Given the description of an element on the screen output the (x, y) to click on. 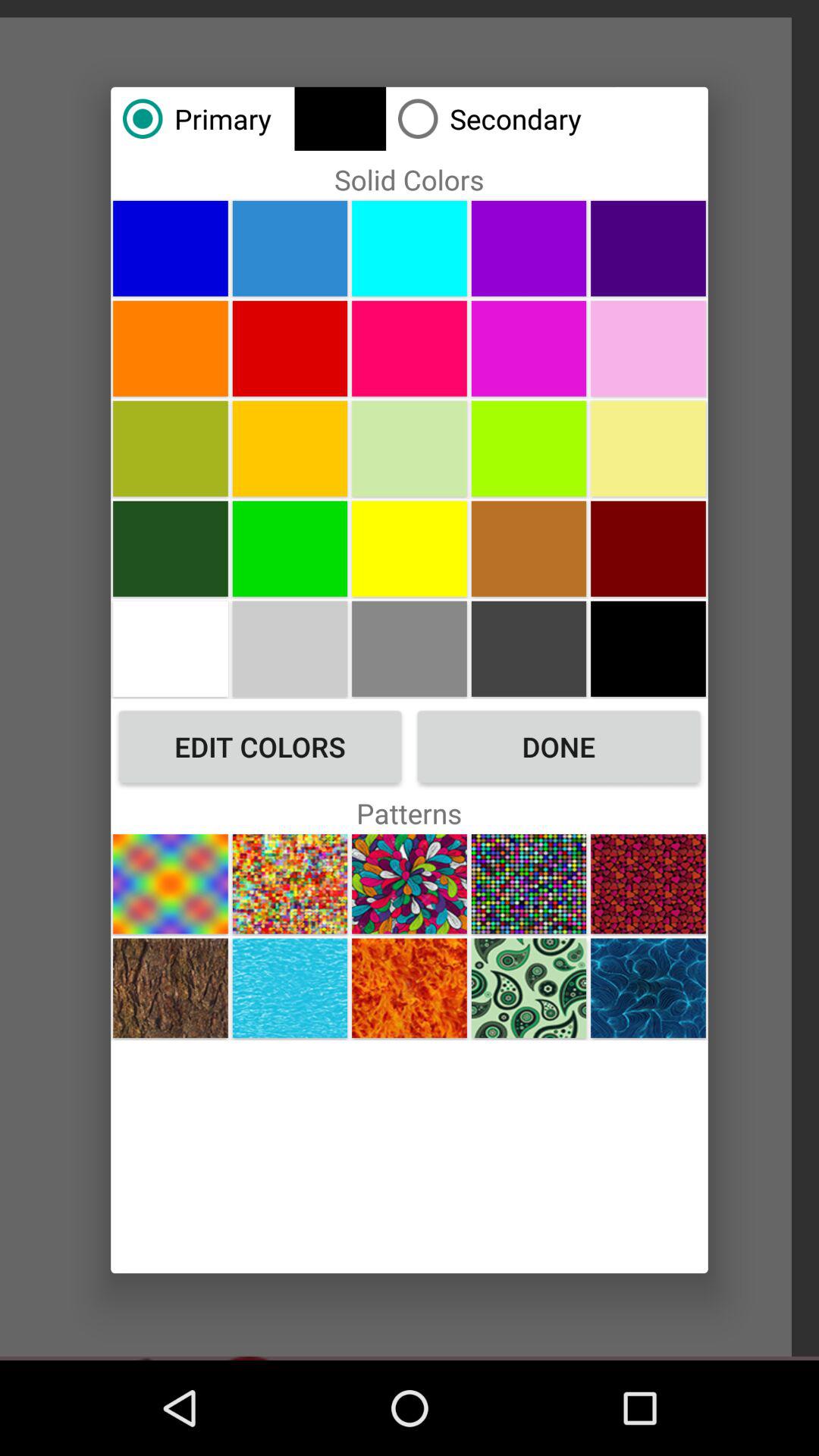
select red (647, 548)
